Given the description of an element on the screen output the (x, y) to click on. 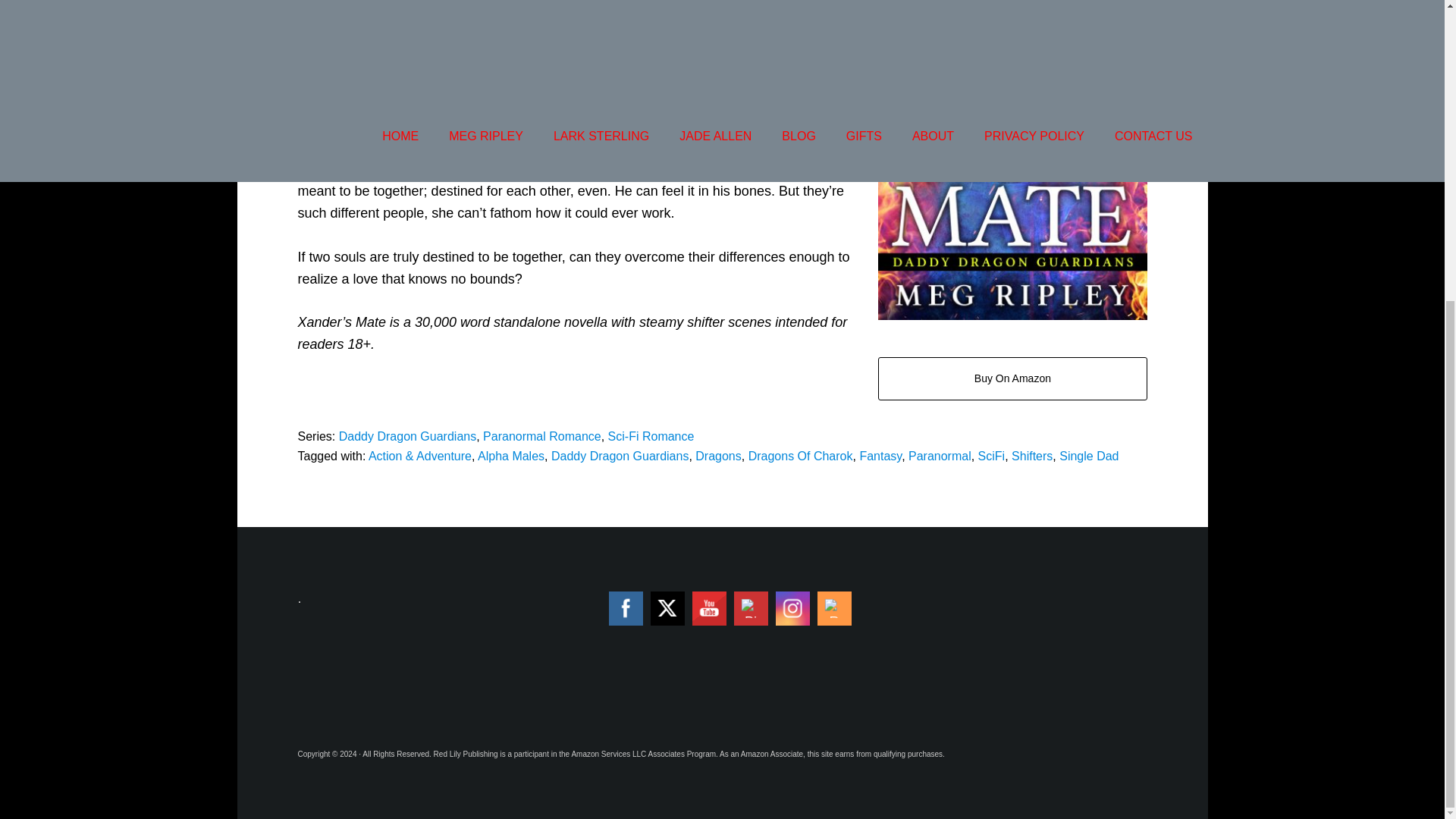
Pinterest (750, 608)
Twitter (667, 607)
Buy On Amazon (1012, 378)
Daddy Dragon Guardians (407, 436)
Facebook (624, 608)
INSTAGRAM (792, 608)
YOUTUBE (709, 608)
RSS (834, 608)
Paranormal Romance (542, 436)
